Given the description of an element on the screen output the (x, y) to click on. 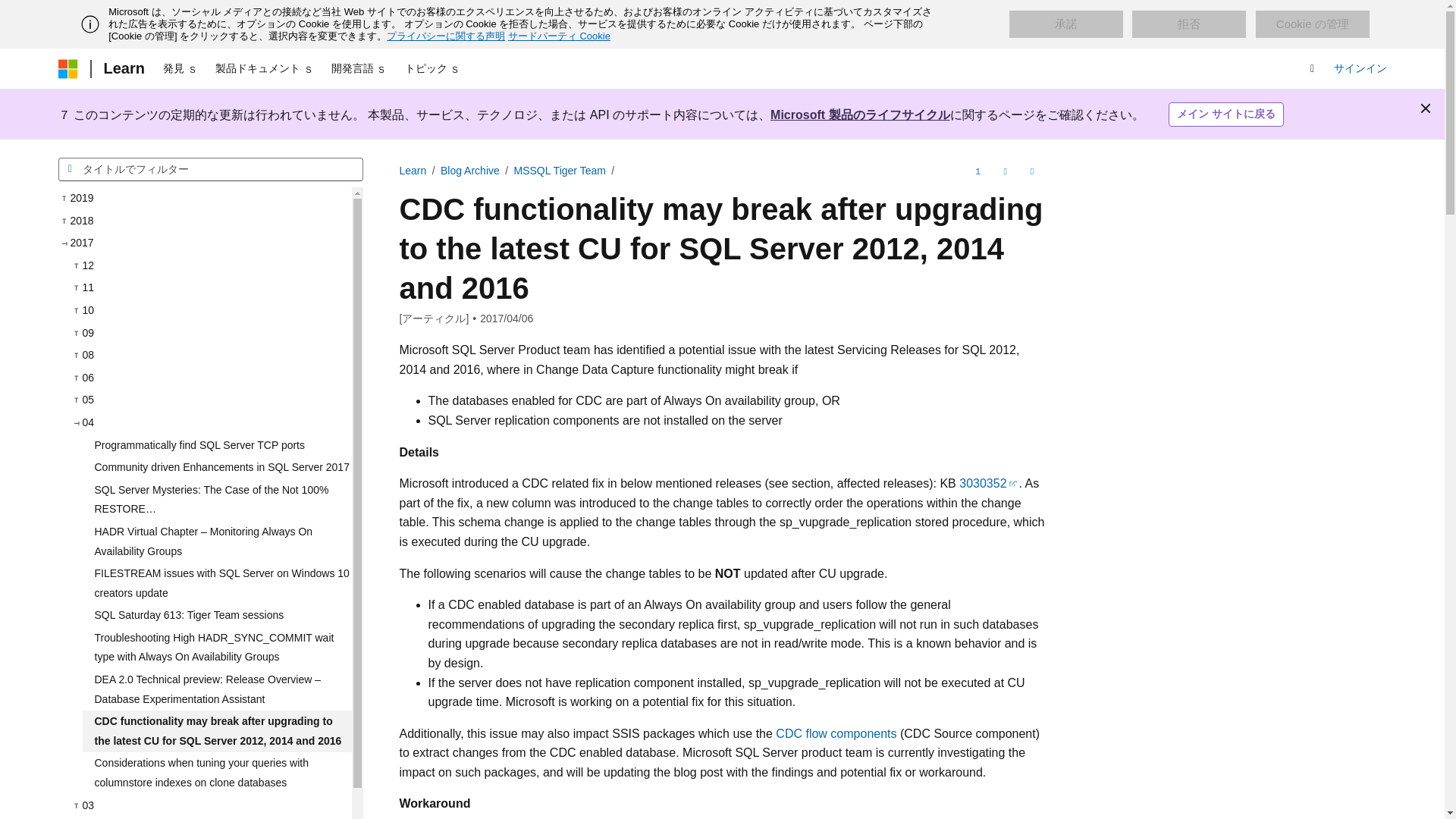
Programmatically find SQL Server TCP ports (215, 445)
SQL Saturday 613: Tiger Team sessions (215, 615)
Learn (123, 68)
Community driven Enhancements in SQL Server 2017 (215, 467)
